Given the description of an element on the screen output the (x, y) to click on. 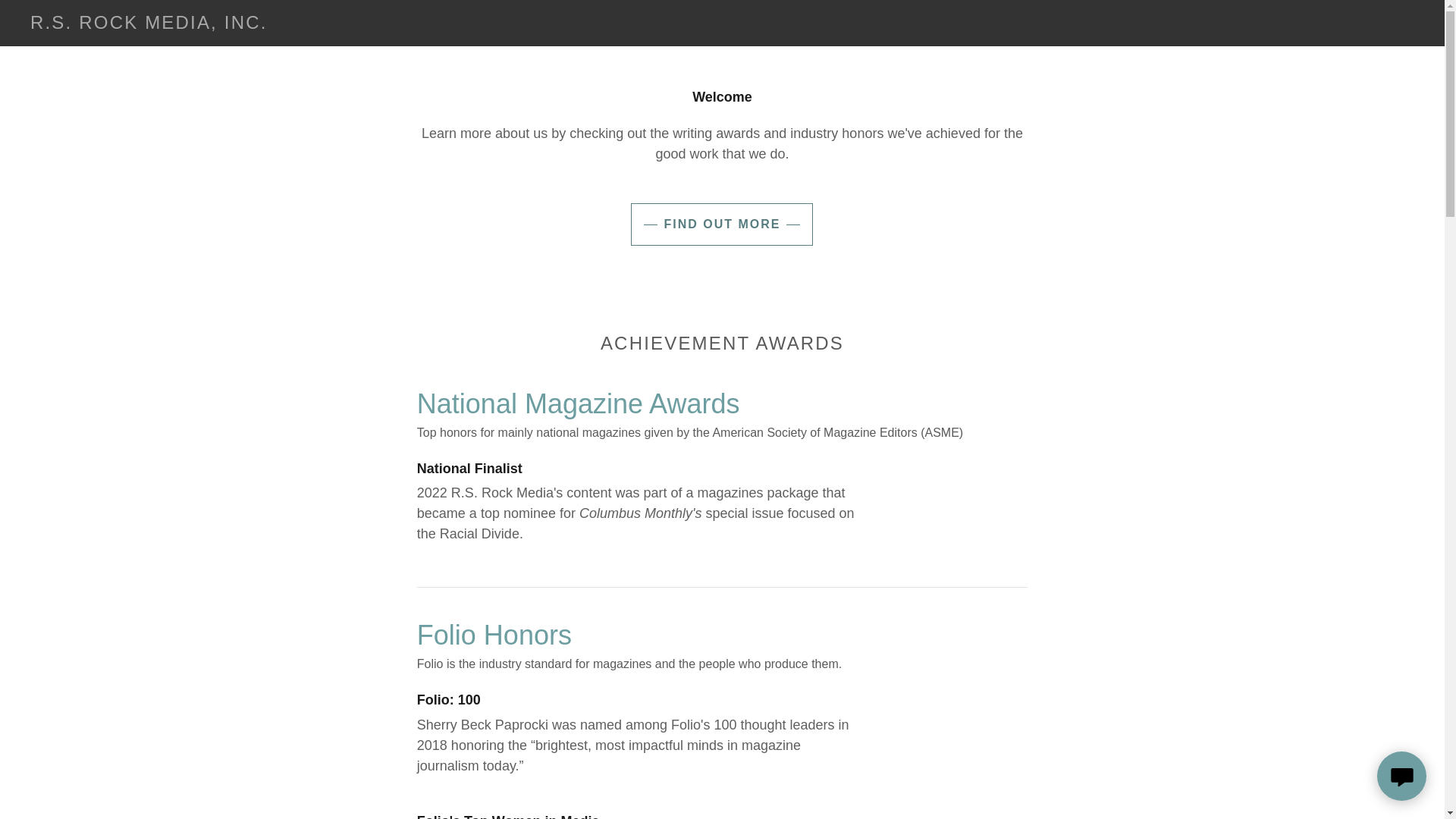
R.S. ROCK MEDIA, INC. (148, 23)
FIND OUT MORE (721, 224)
R.S. Rock Media, Inc. (148, 23)
